Given the description of an element on the screen output the (x, y) to click on. 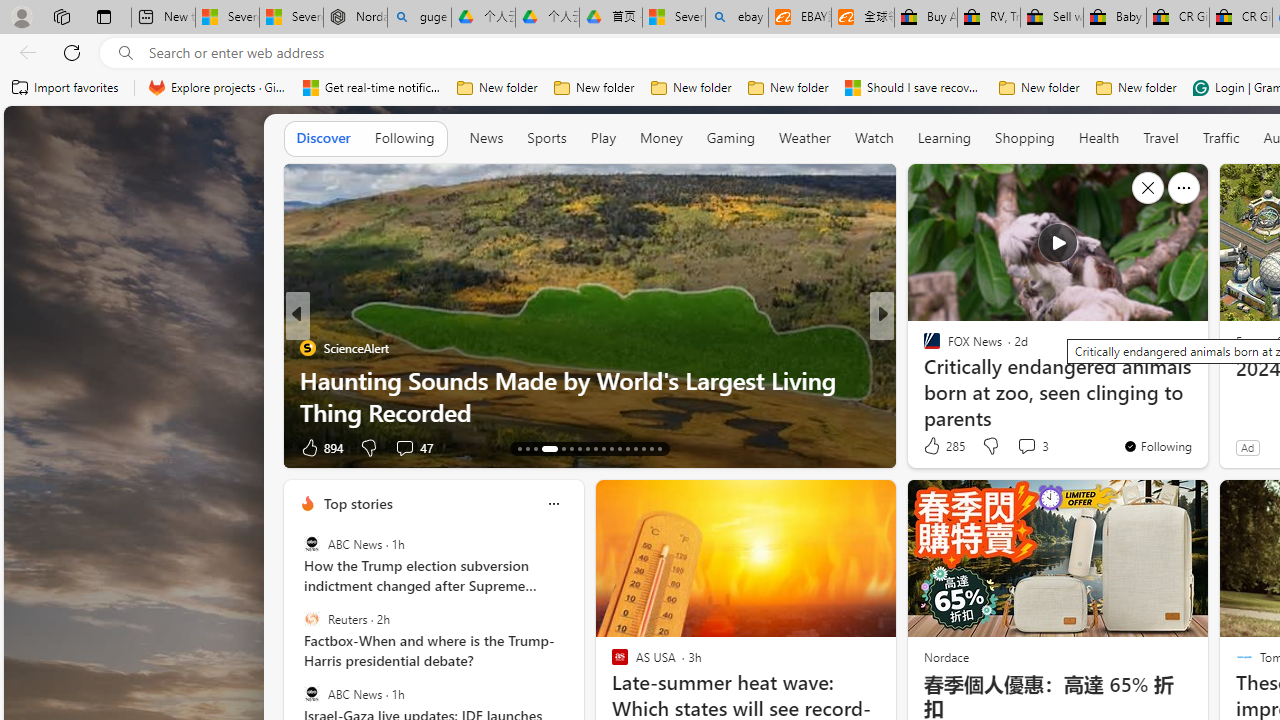
View comments 123 Comment (1025, 447)
AutomationID: tab-18 (571, 448)
View comments 1 Comment (1013, 447)
Money (660, 137)
Play (602, 137)
Should I save recovered Word documents? - Microsoft Support (913, 88)
See more (1183, 187)
Gaming (730, 138)
Hide this story (1147, 187)
guge yunpan - Search (418, 17)
